Given the description of an element on the screen output the (x, y) to click on. 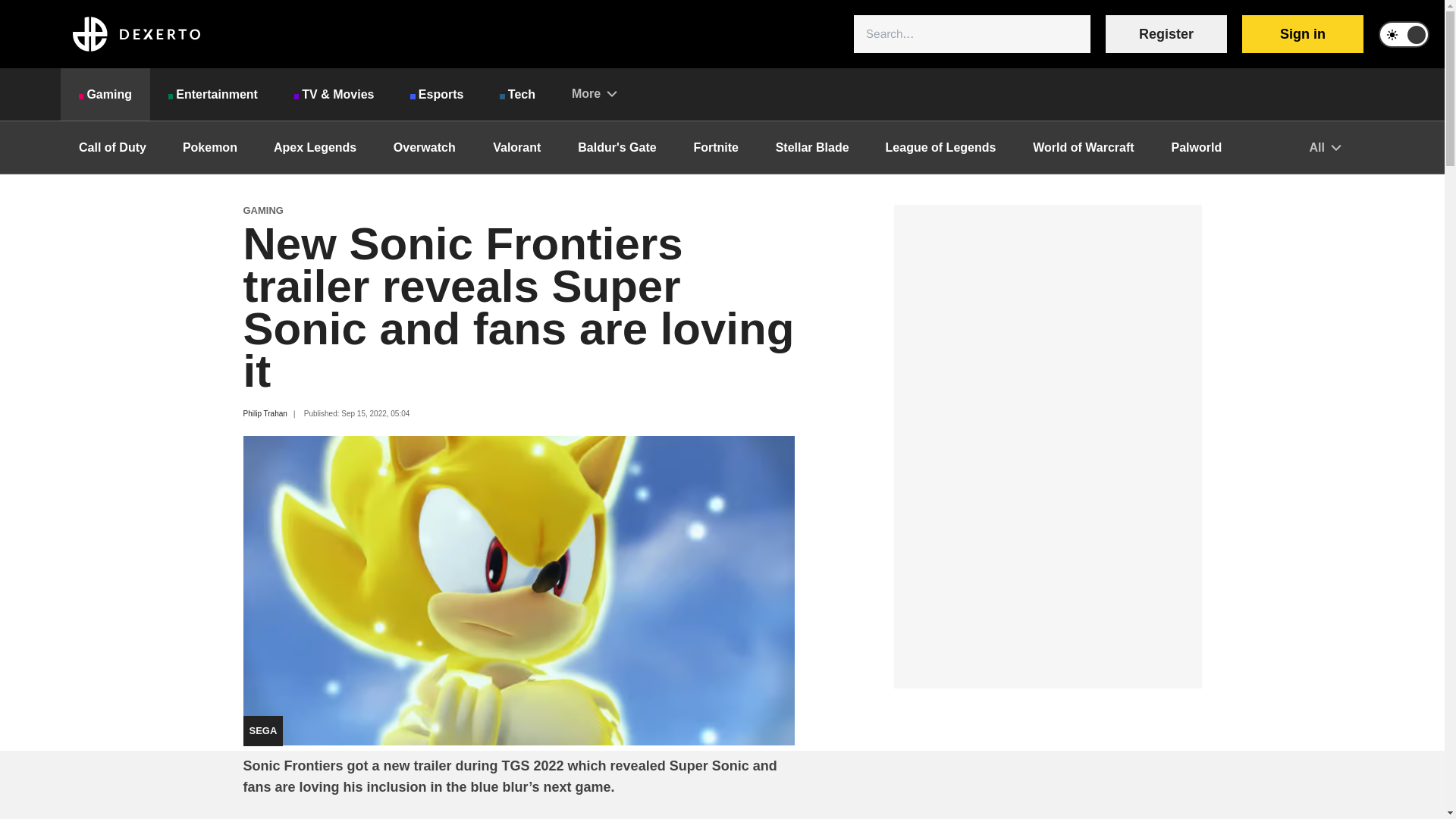
Palworld (1196, 147)
Register (1166, 34)
League of Legends (940, 147)
Tech (517, 93)
Valorant (516, 147)
Esports (436, 93)
Overwatch (424, 147)
Apex Legends (315, 147)
Pokemon (210, 147)
Sign in (1301, 34)
